Given the description of an element on the screen output the (x, y) to click on. 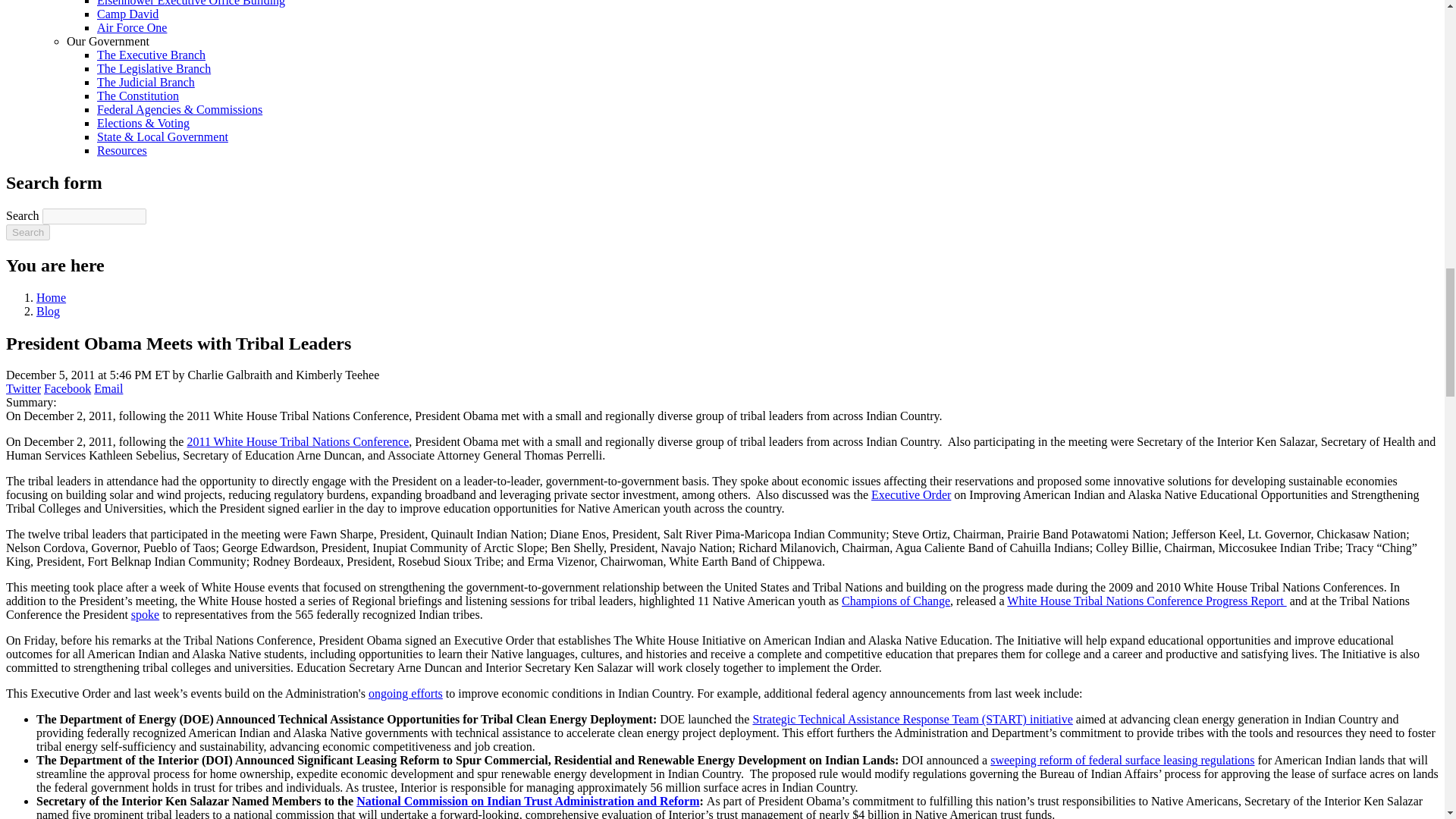
Search (27, 232)
Facebook (66, 388)
Twitter (22, 388)
Email (108, 388)
Enter the terms you wish to search for. (94, 216)
